Given the description of an element on the screen output the (x, y) to click on. 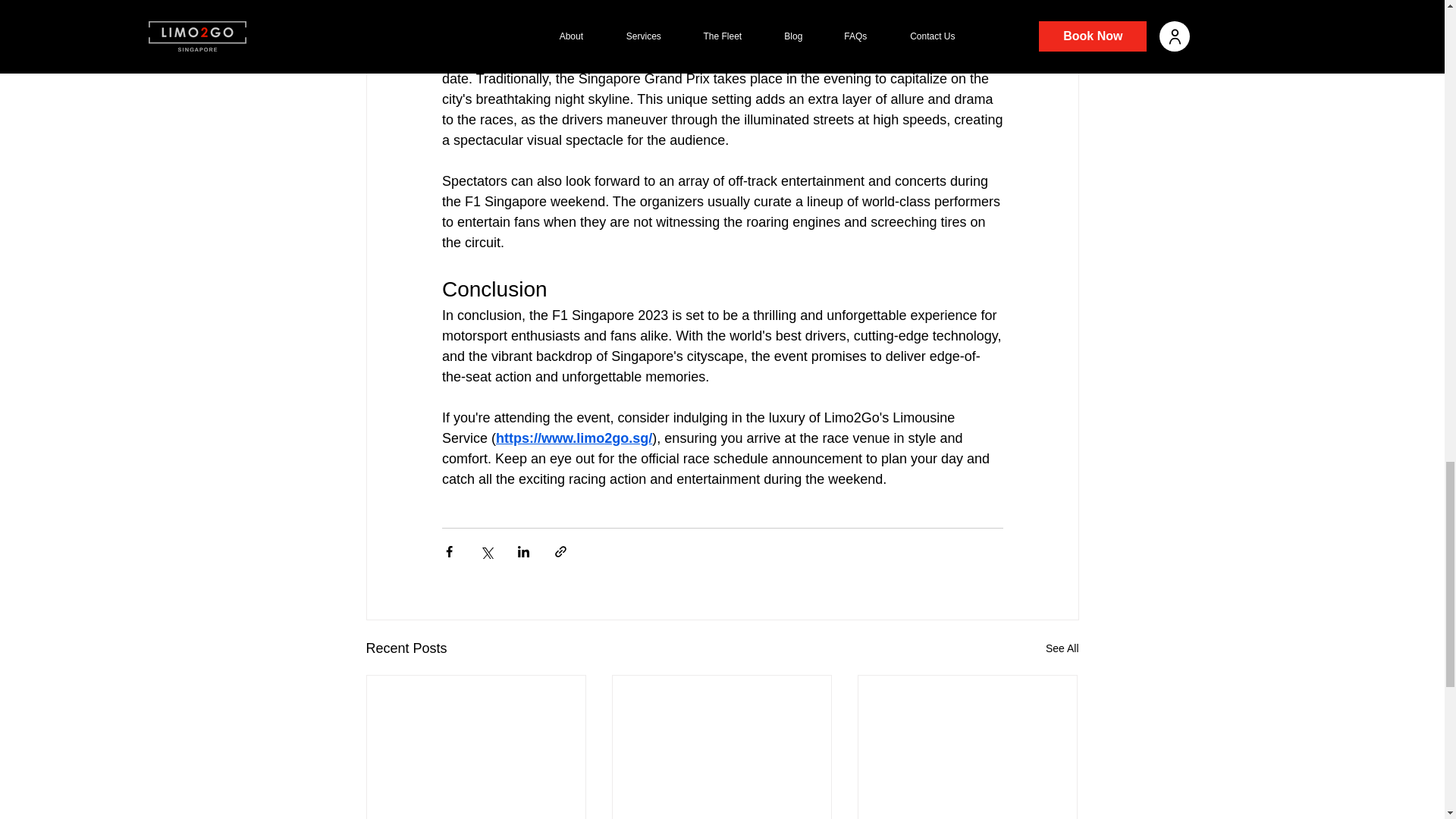
MPV Rental Pricing in Singapore (721, 817)
See All (1061, 649)
How to Book an MPV in Singapore (967, 817)
The Importance of Seamless Transport to the Events (476, 817)
